Given the description of an element on the screen output the (x, y) to click on. 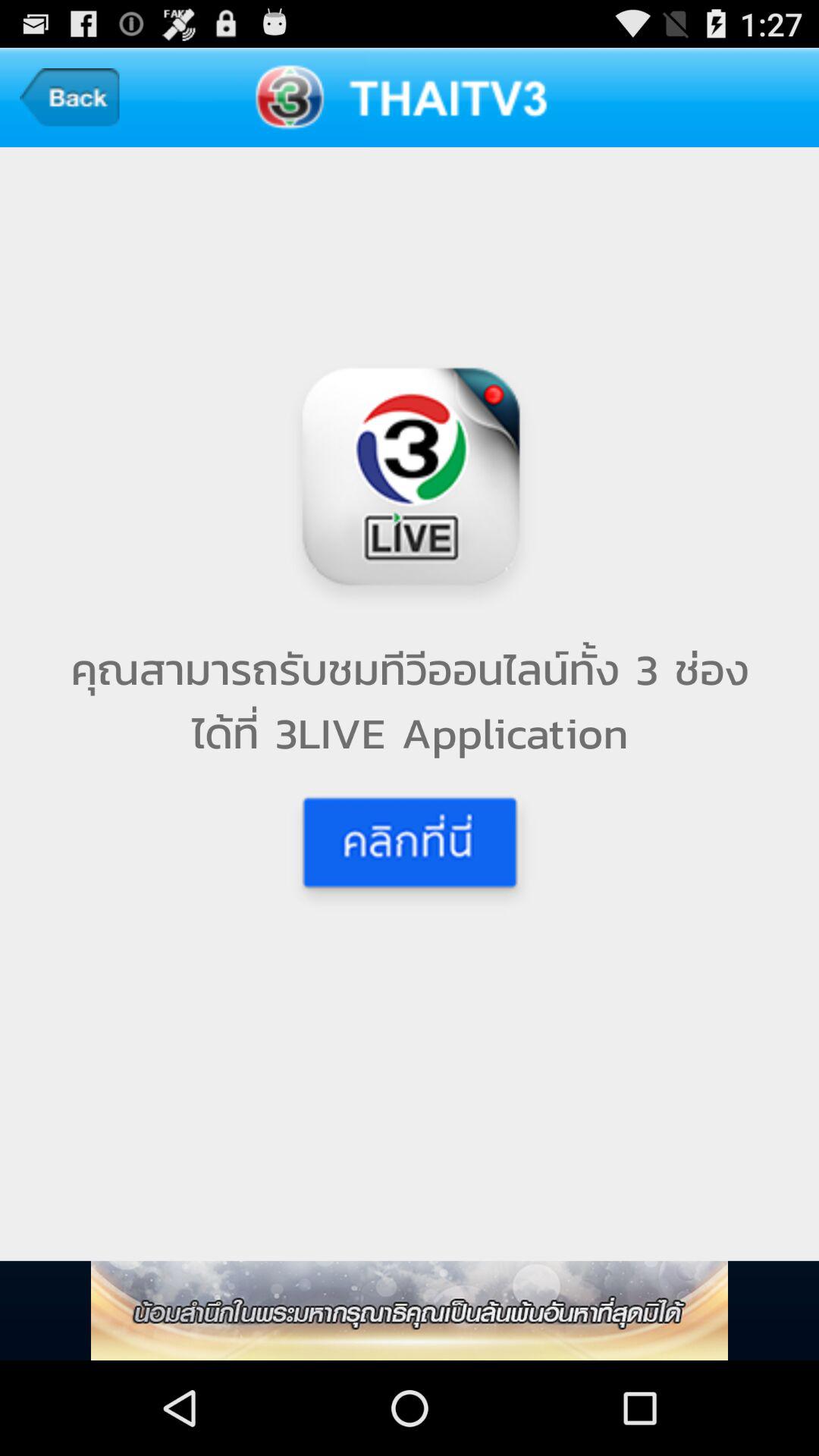
details about advertisement (409, 1310)
